Given the description of an element on the screen output the (x, y) to click on. 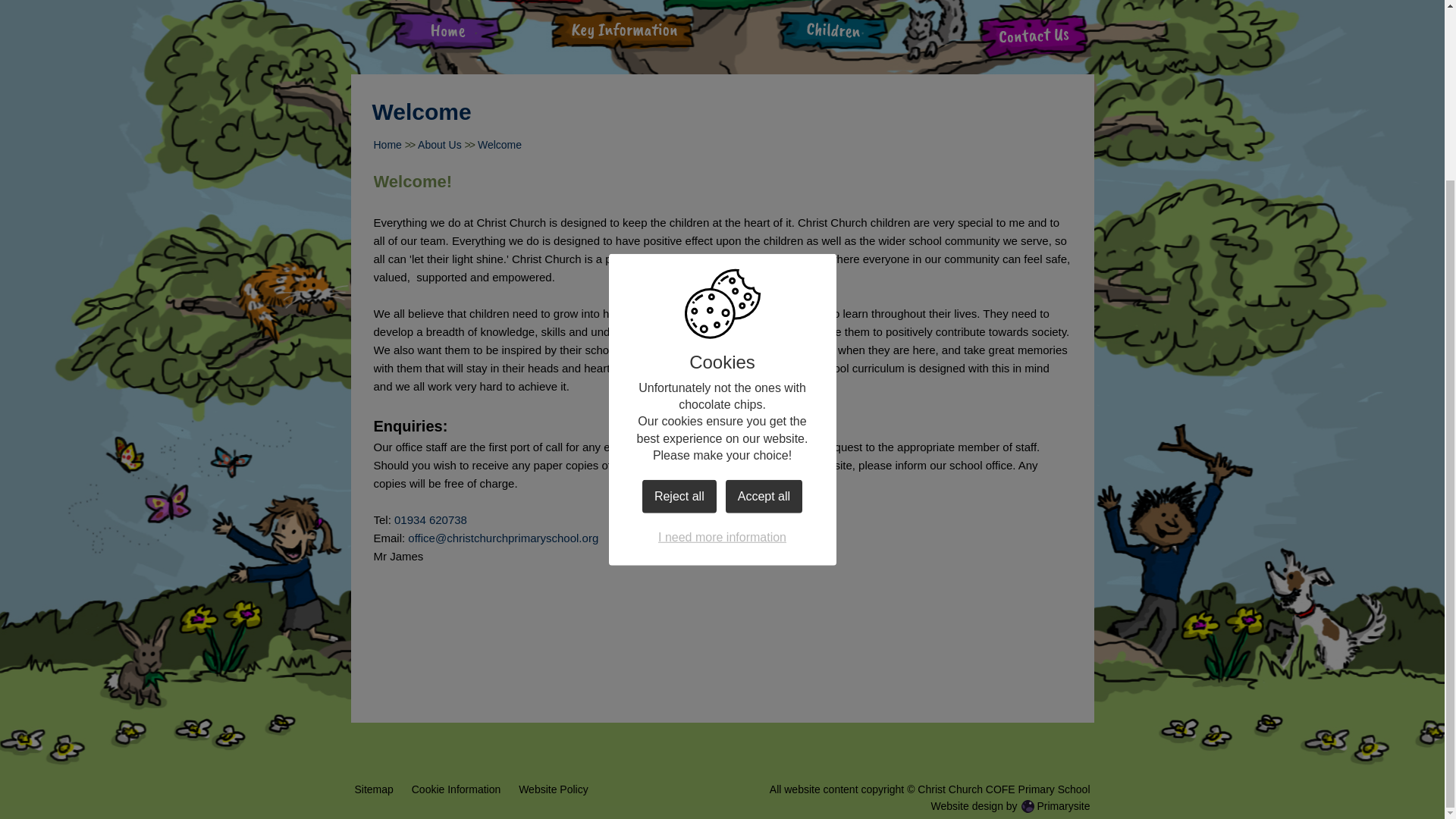
About Us (533, 4)
Home (446, 35)
01934 620738 (430, 519)
Welcome (499, 144)
About Us (439, 144)
Home (386, 144)
Key Information (622, 35)
